Given the description of an element on the screen output the (x, y) to click on. 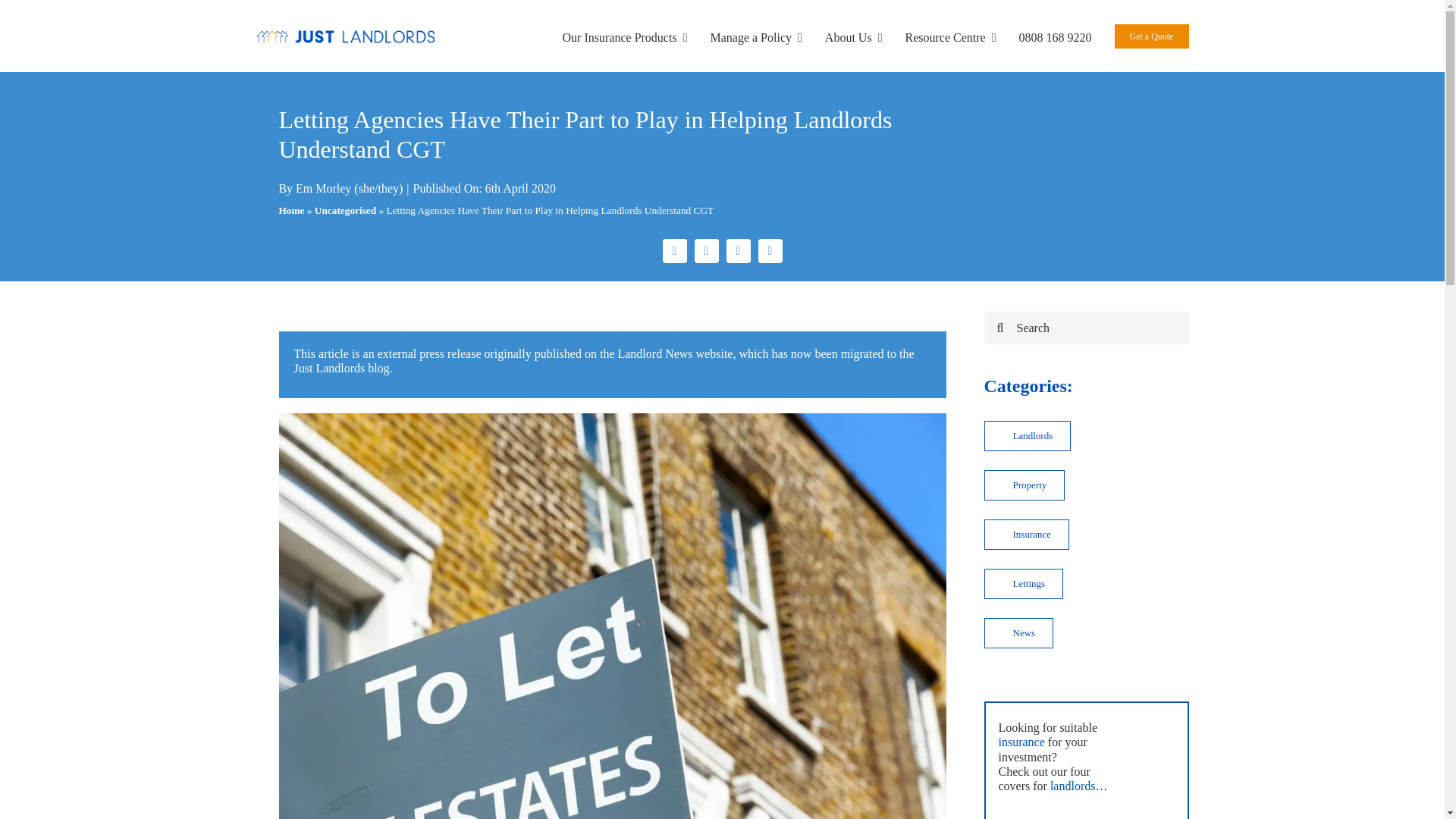
Products (624, 36)
Manage a Policy (756, 36)
Manage a Policy (756, 36)
Our Insurance Products (624, 36)
